Given the description of an element on the screen output the (x, y) to click on. 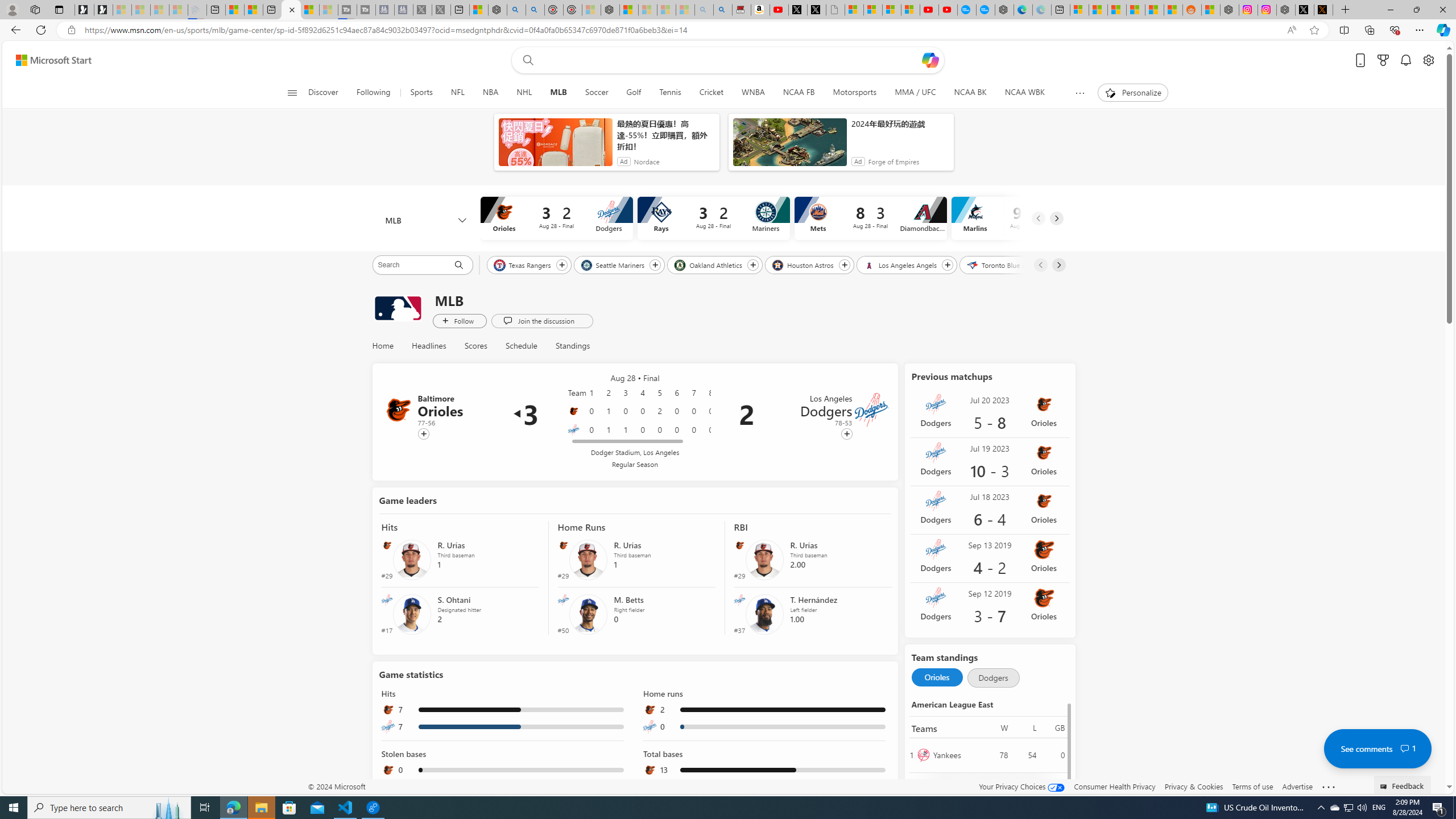
Tennis (669, 92)
Join the discussion (541, 320)
Your Privacy Choices (1021, 786)
Headlines (429, 345)
Mets 8 vs Diamondbacks 3Final Date Aug 28 (869, 217)
NCAA WBK (1024, 92)
Motorsports (854, 92)
Nordace - Nordace Siena Is Not An Ordinary Backpack (609, 9)
NCAA BK (969, 92)
Los Angeles Dodgers (871, 410)
